Given the description of an element on the screen output the (x, y) to click on. 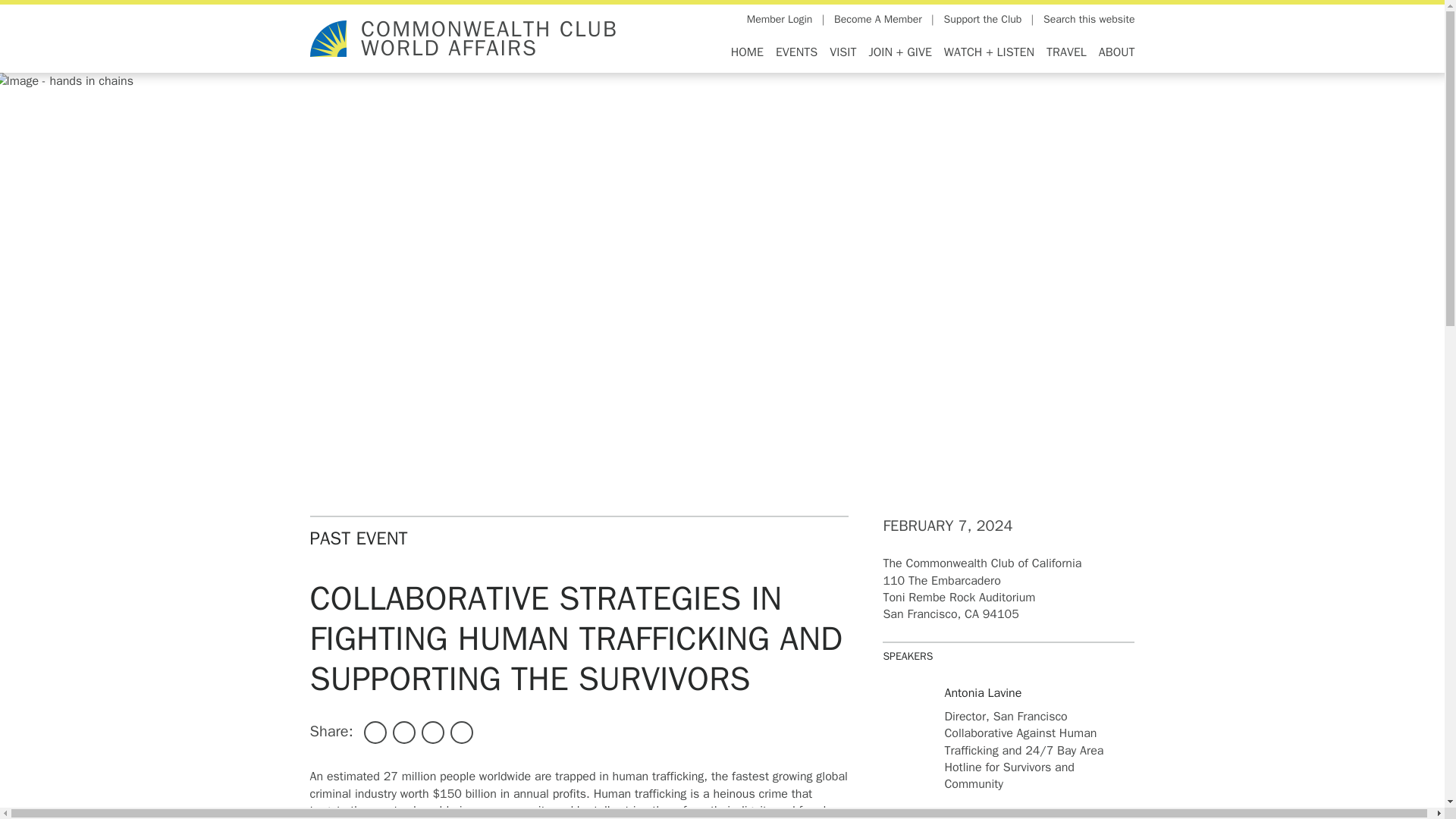
About (1114, 51)
EVENTS (797, 51)
Support the Club (982, 19)
Become A Member (877, 19)
Share to Linkedin (433, 732)
COMMONWEALTH CLUB WORLD AFFAIRS (489, 38)
VISIT (842, 51)
Share to X (403, 732)
Member Login (779, 19)
